Given the description of an element on the screen output the (x, y) to click on. 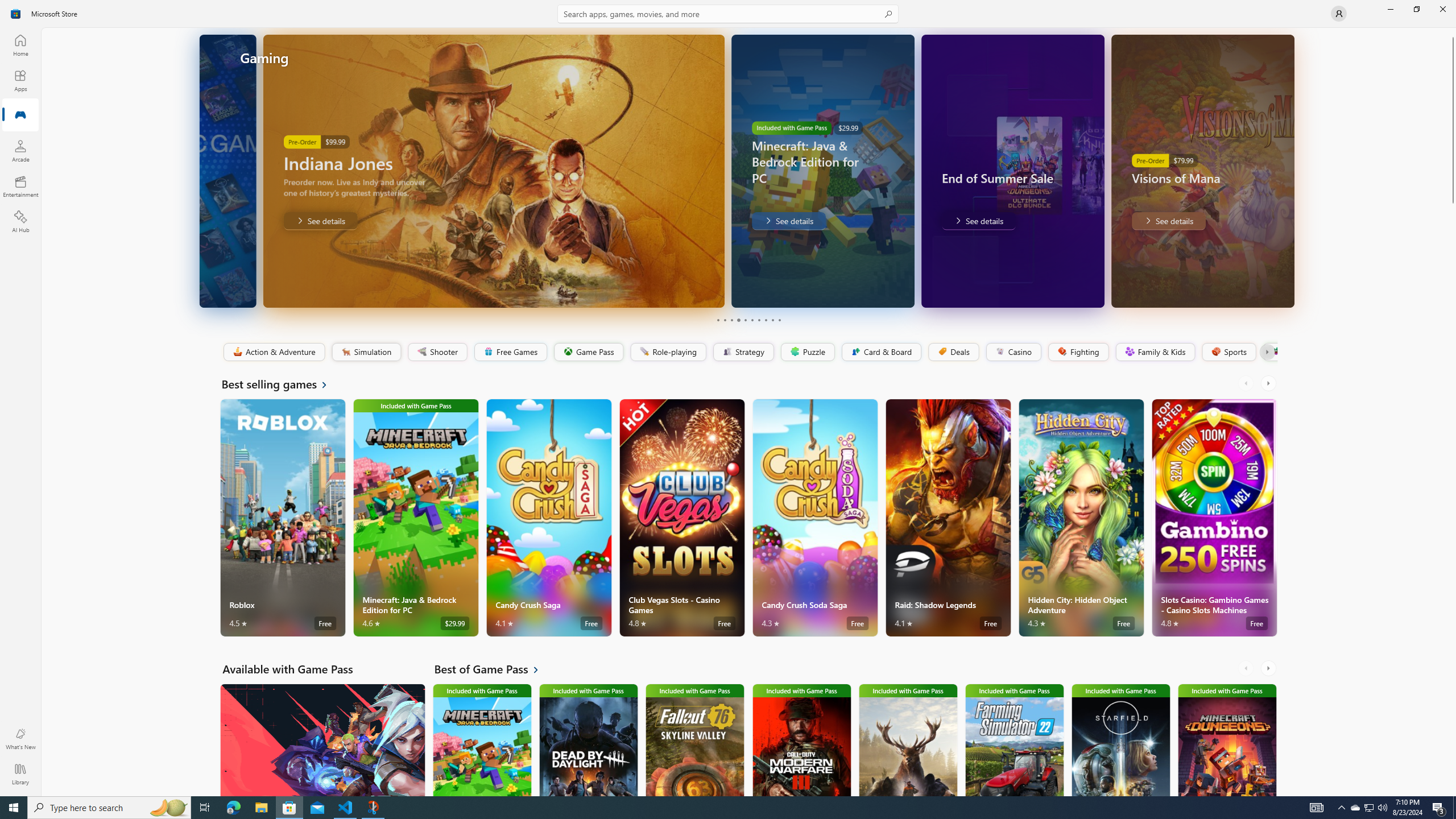
Close Microsoft Store (1442, 9)
Gaming (20, 115)
Simulation (365, 352)
Roblox. Average rating of 4.5 out of five stars. Free   (282, 517)
Puzzle (807, 352)
Casino (1013, 352)
Page 9 (772, 319)
AutomationID: RightScrollButton (1269, 668)
